Given the description of an element on the screen output the (x, y) to click on. 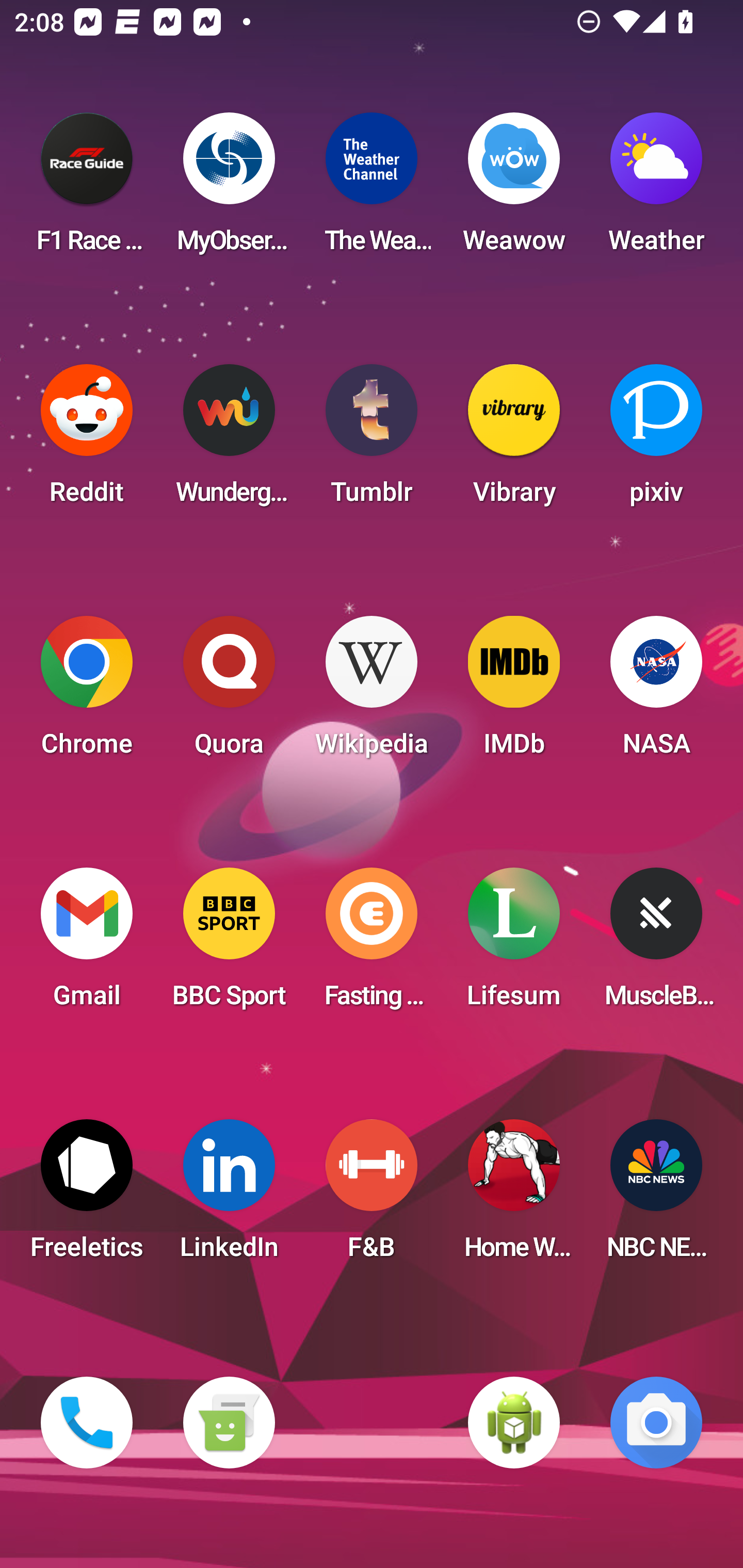
F1 Race Guide (86, 188)
MyObservatory (228, 188)
The Weather Channel (371, 188)
Weawow (513, 188)
Weather (656, 188)
Reddit (86, 440)
Wunderground (228, 440)
Tumblr (371, 440)
Vibrary (513, 440)
pixiv (656, 440)
Chrome (86, 692)
Quora (228, 692)
Wikipedia (371, 692)
IMDb (513, 692)
NASA (656, 692)
Gmail (86, 943)
BBC Sport (228, 943)
Fasting Coach (371, 943)
Lifesum (513, 943)
MuscleBooster (656, 943)
Freeletics (86, 1195)
LinkedIn (228, 1195)
F&B (371, 1195)
Home Workout (513, 1195)
NBC NEWS (656, 1195)
Phone (86, 1422)
Messaging (228, 1422)
WebView Browser Tester (513, 1422)
Camera (656, 1422)
